Given the description of an element on the screen output the (x, y) to click on. 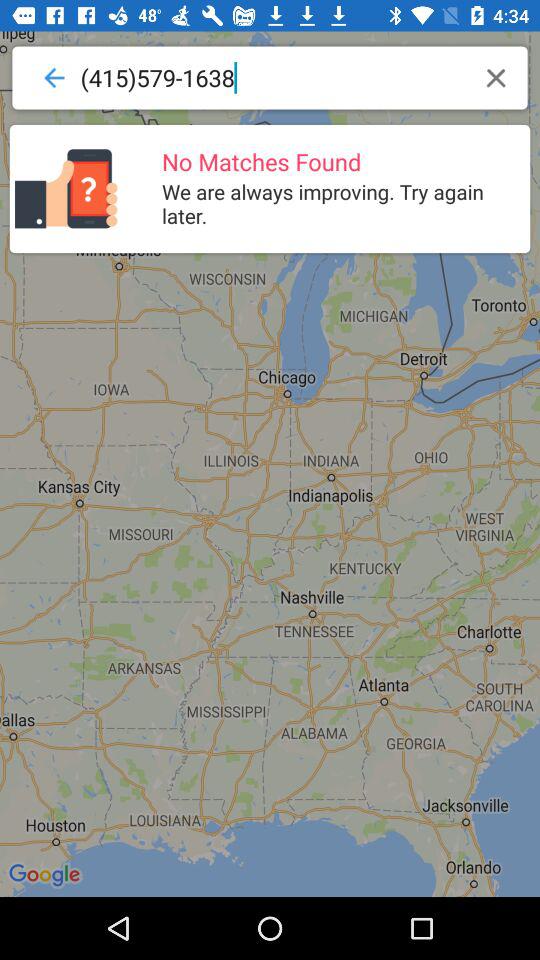
tap the item next to the (415)579-1638 item (495, 77)
